Given the description of an element on the screen output the (x, y) to click on. 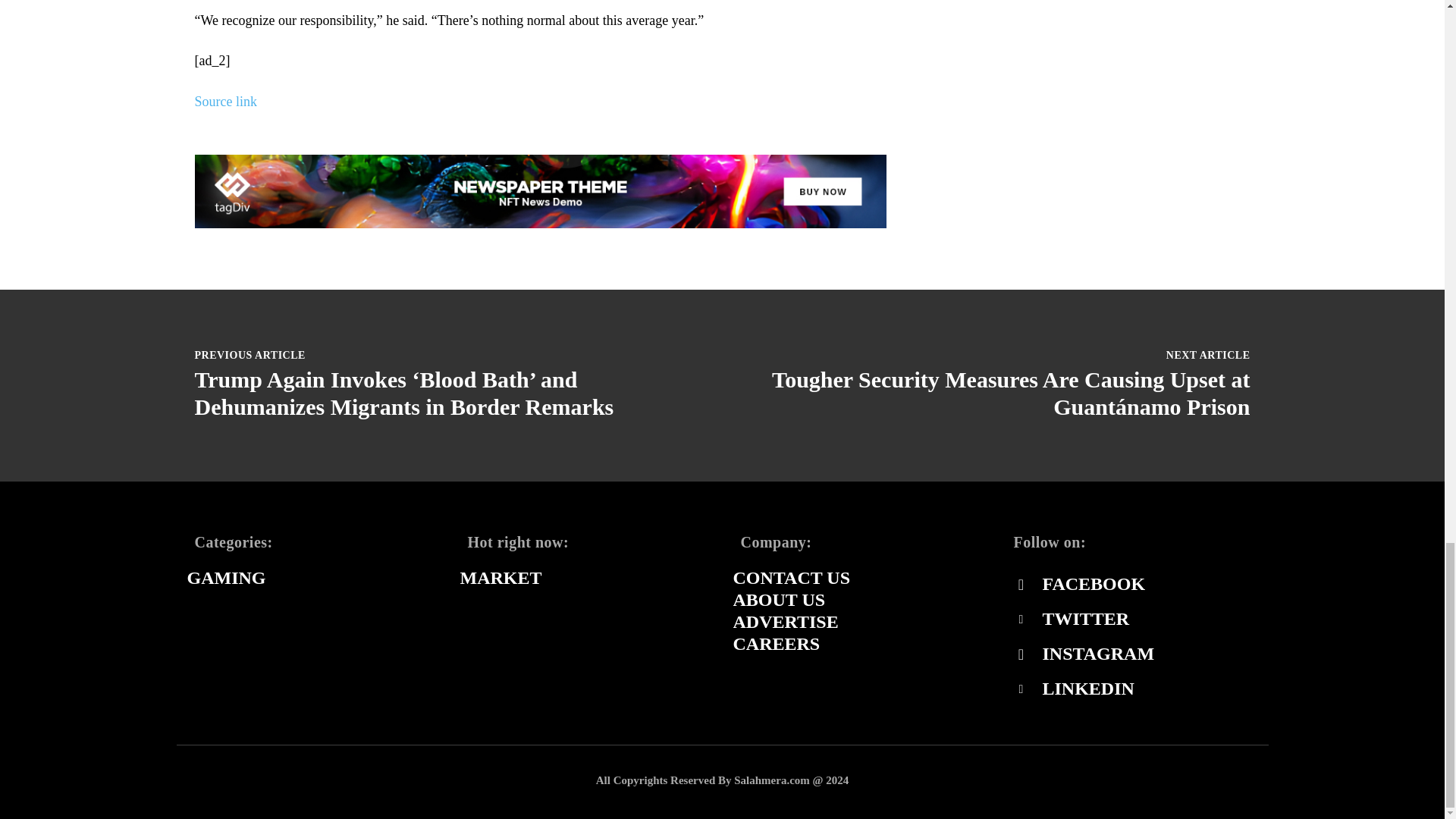
Source link (225, 101)
